Given the description of an element on the screen output the (x, y) to click on. 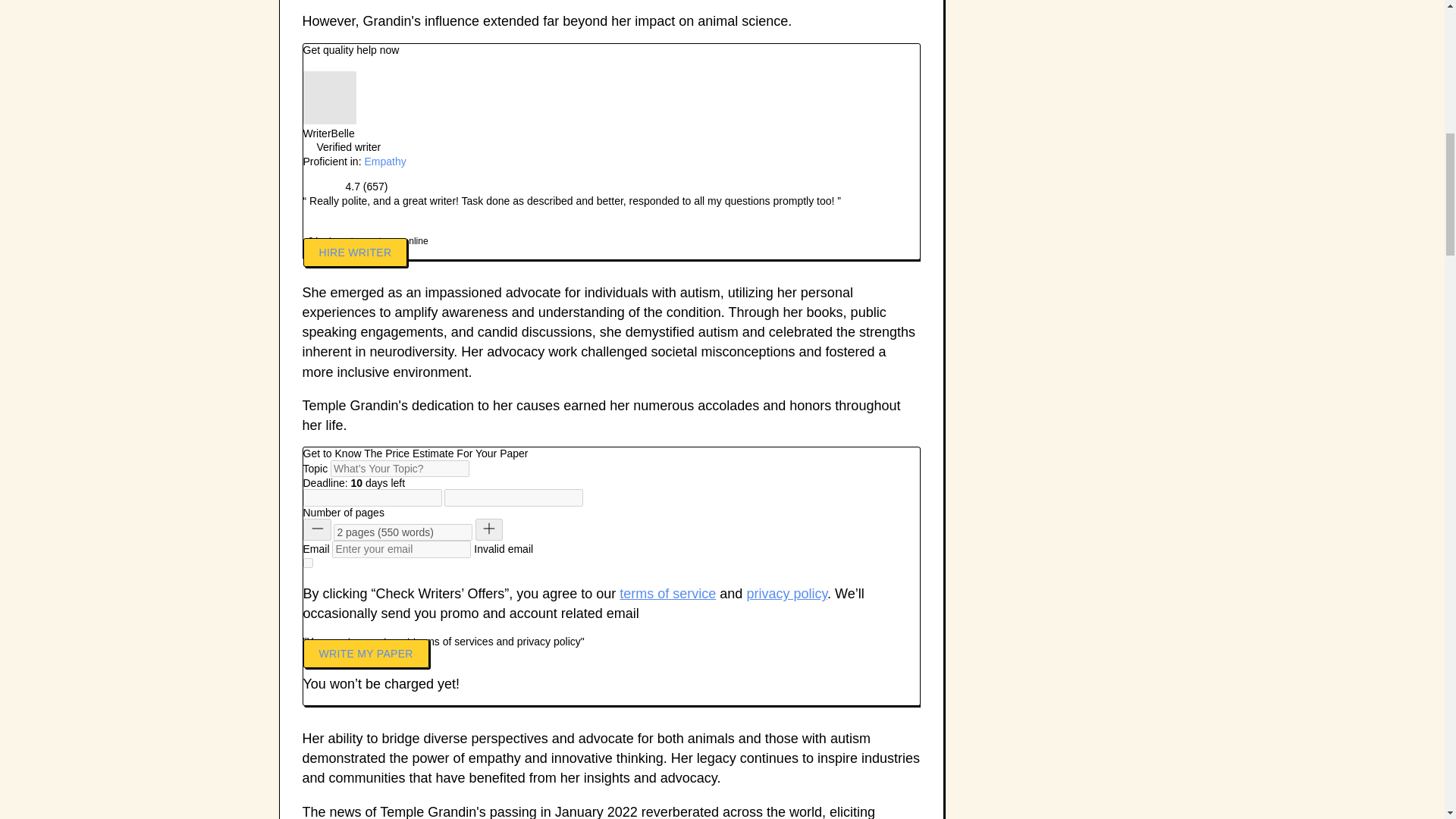
Empathy (385, 161)
HIRE WRITER (354, 252)
privacy policy (786, 593)
on (307, 562)
WRITE MY PAPER (365, 653)
terms of service (668, 593)
